Given the description of an element on the screen output the (x, y) to click on. 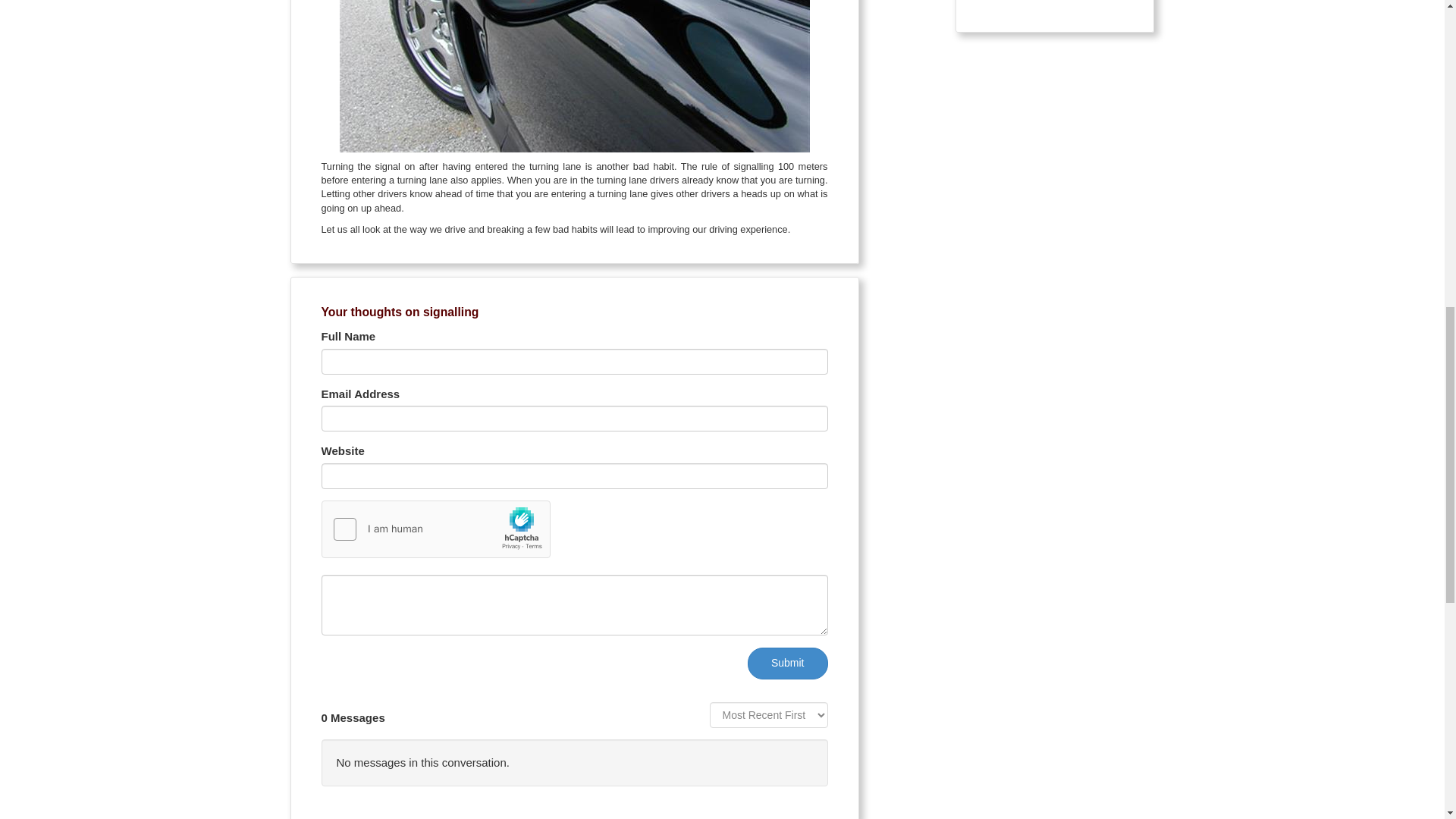
Submit (788, 663)
Widget containing checkbox for hCaptcha security challenge (436, 529)
